Given the description of an element on the screen output the (x, y) to click on. 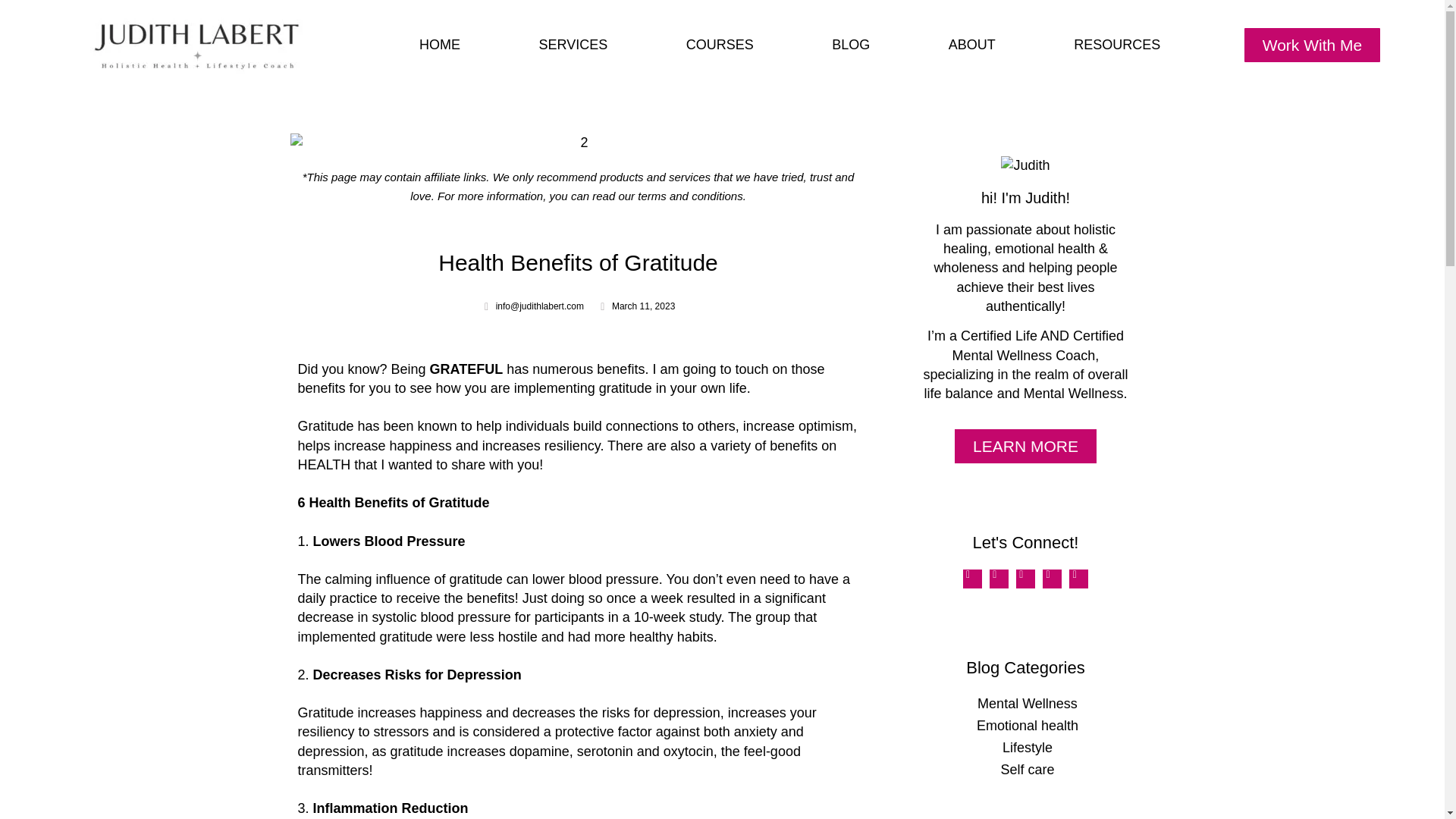
BLOG (850, 44)
ABOUT (971, 44)
Boundaries About me (1025, 165)
SERVICES (572, 44)
COURSES (719, 44)
Work With Me (1312, 44)
March 11, 2023 (635, 306)
2 (577, 142)
HOME (439, 44)
RESOURCES (1117, 44)
